Given the description of an element on the screen output the (x, y) to click on. 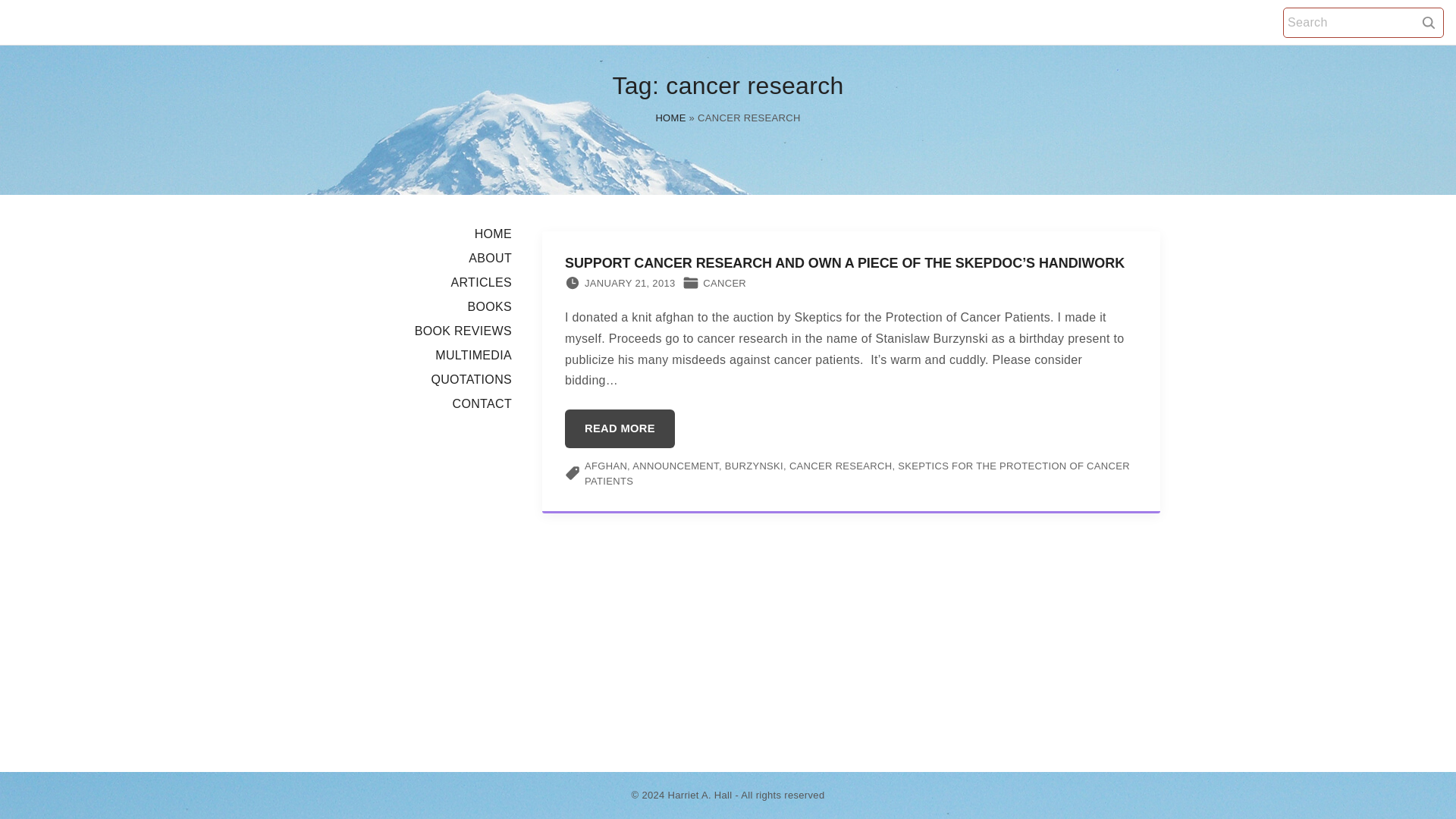
BOOK REVIEWS (463, 330)
BURZYNSKI (754, 465)
SEARCH (1428, 21)
QUOTATIONS (471, 379)
ABOUT (490, 257)
MULTIMEDIA (473, 354)
ARTICLES (480, 282)
CONTACT (482, 403)
CANCER (724, 283)
CANCER RESEARCH (840, 465)
